Given the description of an element on the screen output the (x, y) to click on. 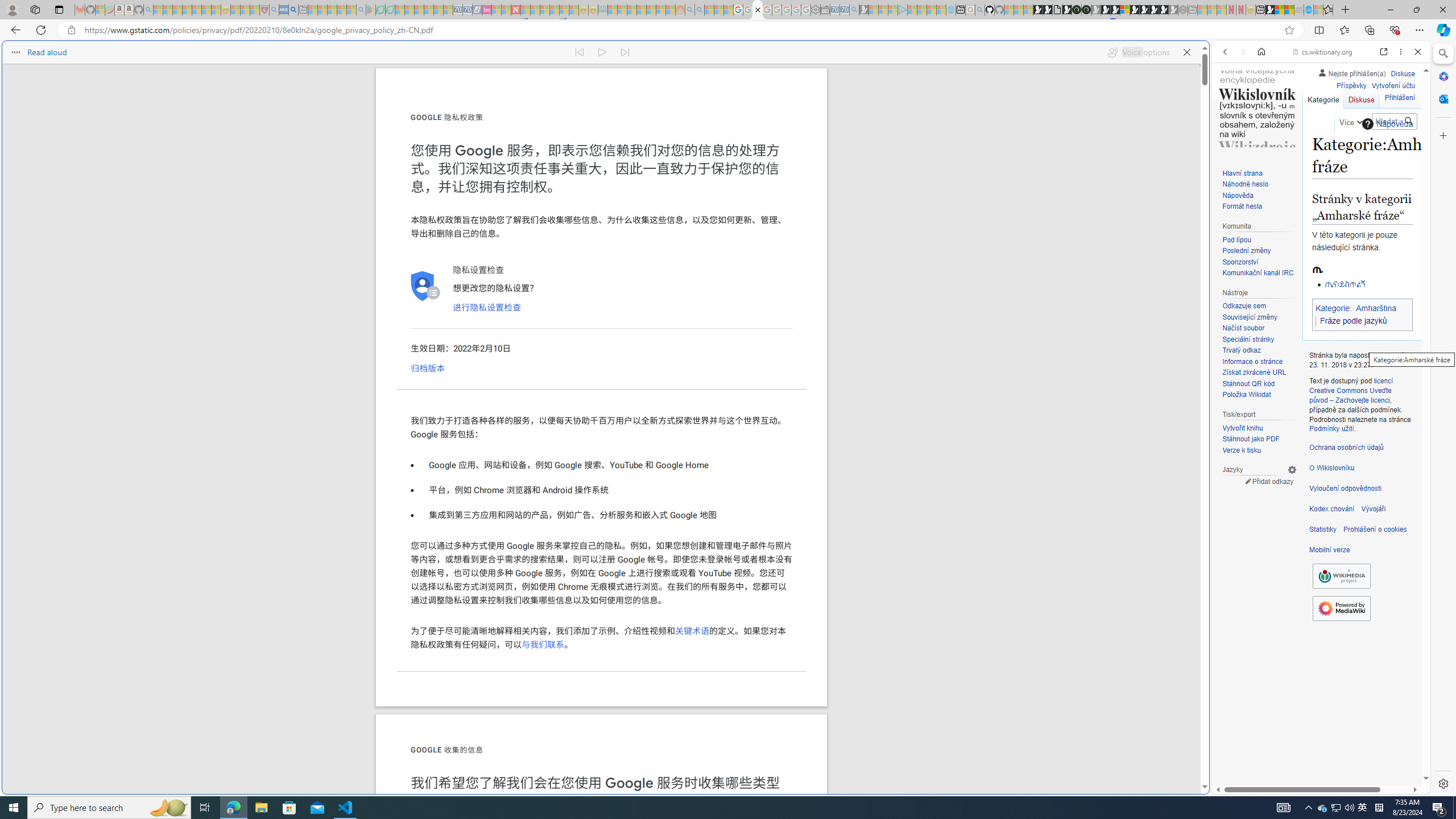
Bing Real Estate - Home sales and rental listings - Sleeping (853, 9)
Home | Sky Blue Bikes - Sky Blue Bikes - Sleeping (950, 9)
MSN (1269, 9)
New Report Confirms 2023 Was Record Hot | Watch - Sleeping (196, 9)
SEARCH TOOLS (1350, 130)
Robert H. Shmerling, MD - Harvard Health - Sleeping (263, 9)
